Given the description of an element on the screen output the (x, y) to click on. 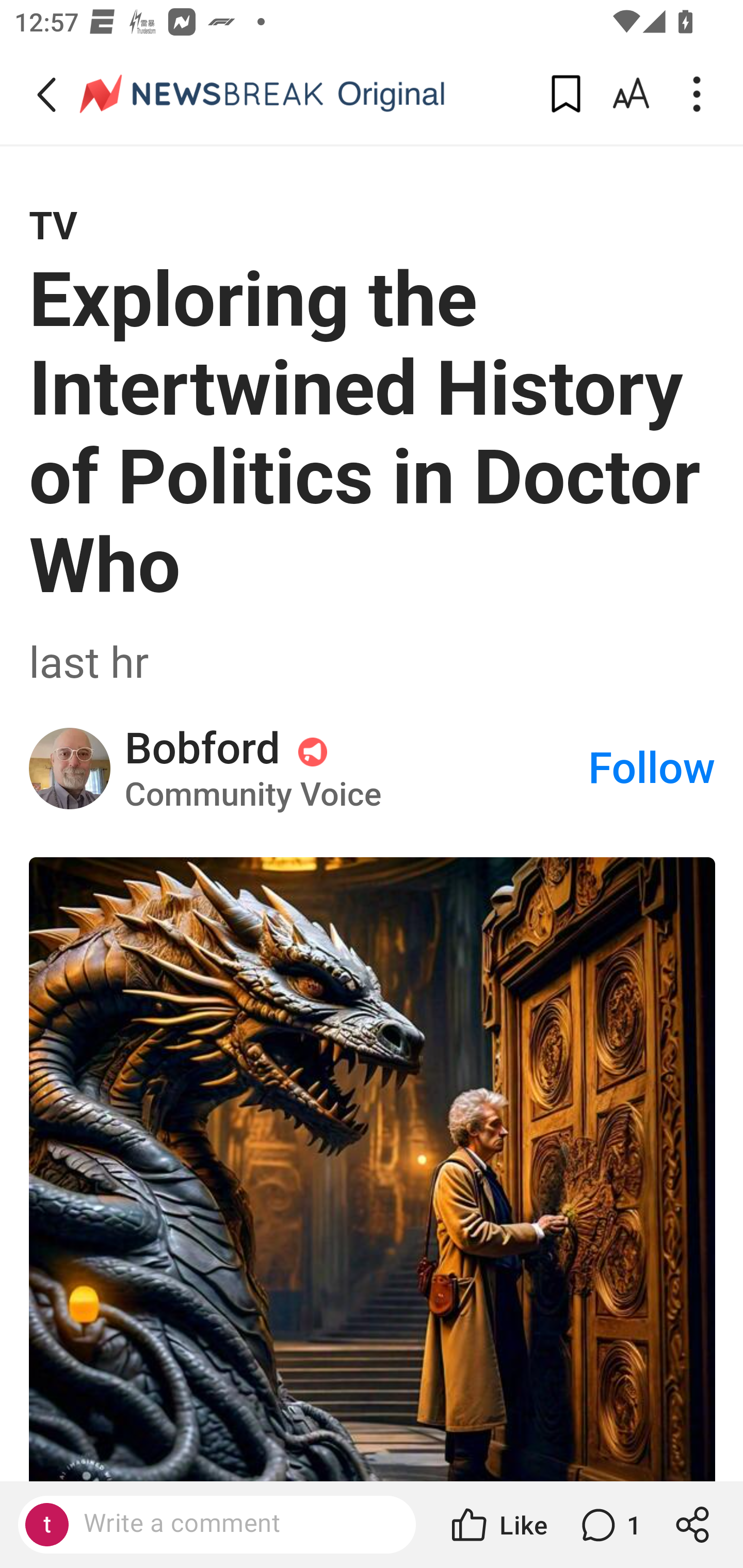
Bobford  Community Voice (355, 767)
Bobford (70, 768)
Follow (651, 767)
Like (497, 1524)
1 (608, 1524)
Write a comment (234, 1523)
